Given the description of an element on the screen output the (x, y) to click on. 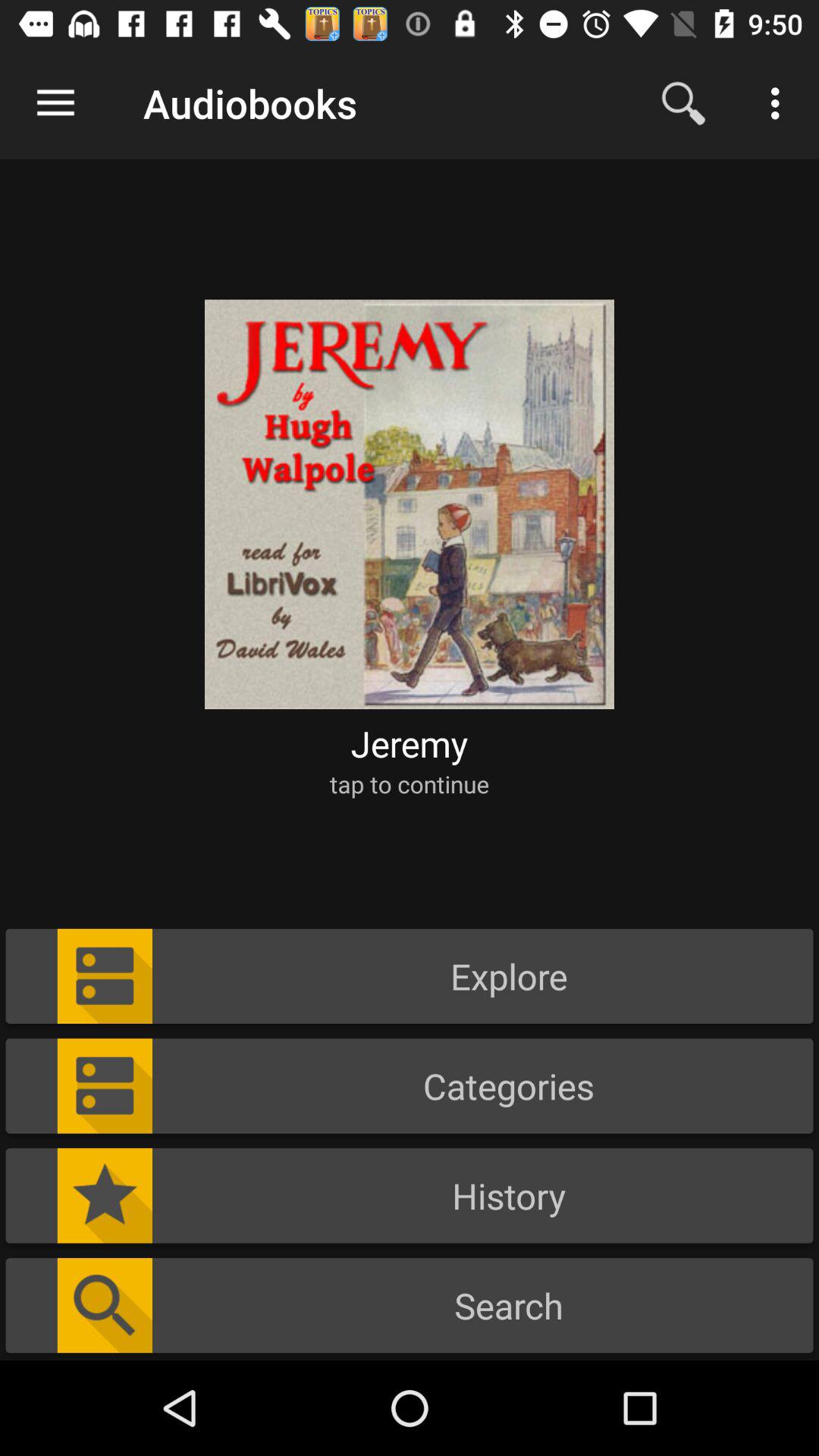
click the icon above the jeremy item (409, 494)
